Given the description of an element on the screen output the (x, y) to click on. 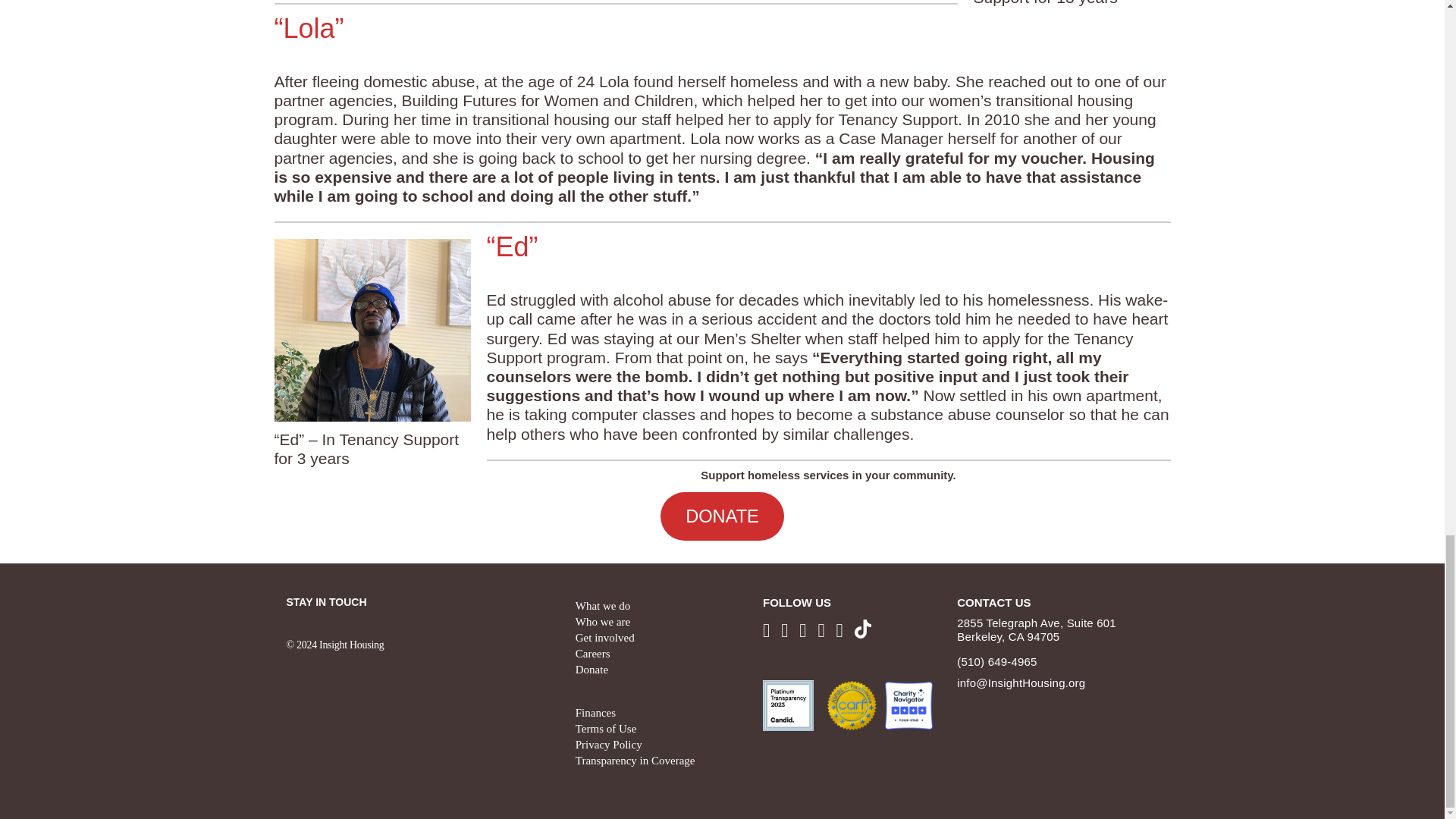
Finances (595, 712)
Terms of Use (606, 728)
Get involved (604, 637)
What we do (602, 605)
DONATE (722, 516)
Who we are (602, 621)
Careers (592, 653)
Donate (591, 669)
